Given the description of an element on the screen output the (x, y) to click on. 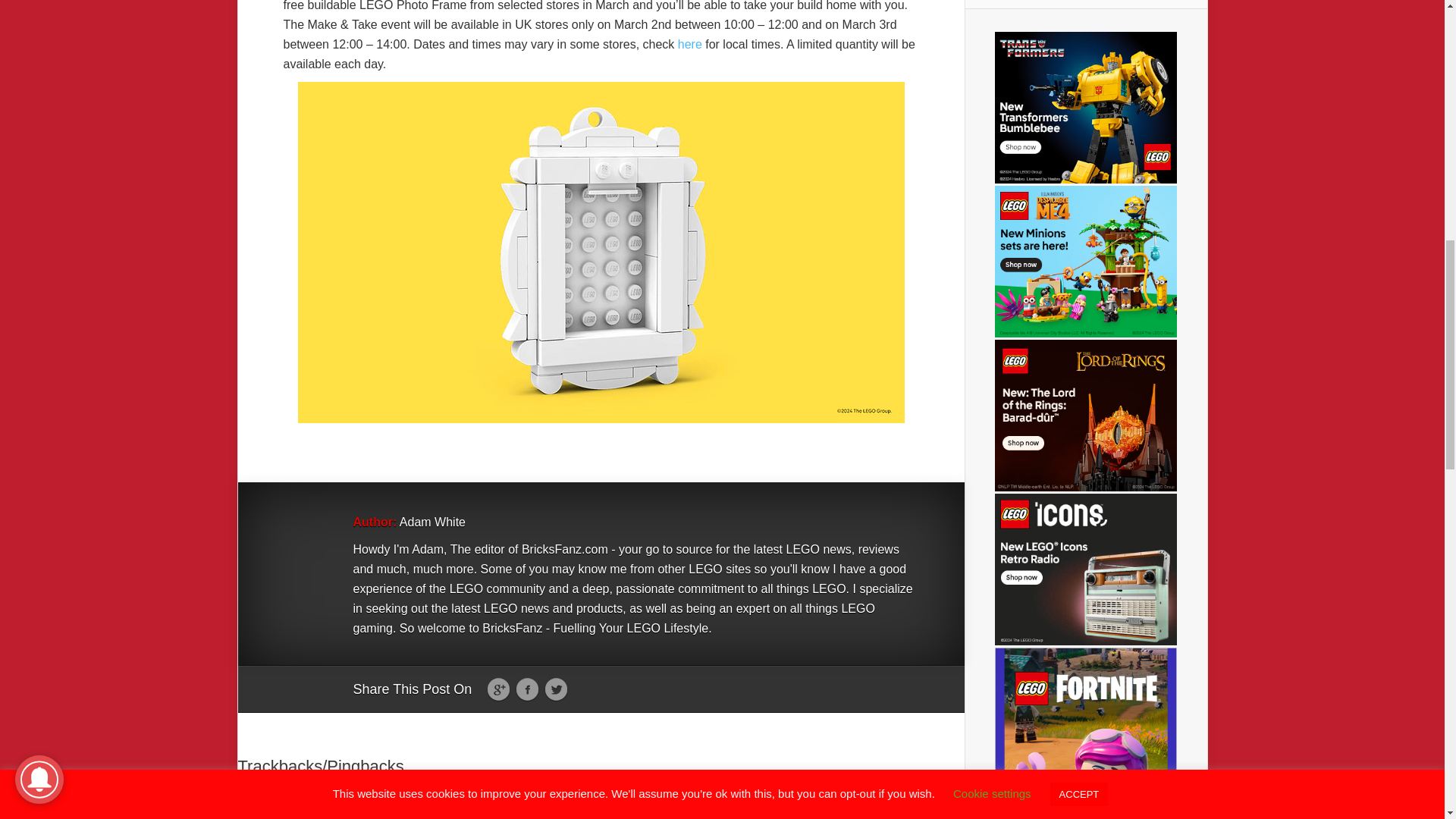
Twitter (555, 689)
advertisement (1085, 107)
Facebook (526, 689)
advertisement (1085, 569)
here (689, 43)
advertisement (1085, 733)
advertisement (1085, 261)
advertisement (1085, 415)
Google (498, 689)
